Given the description of an element on the screen output the (x, y) to click on. 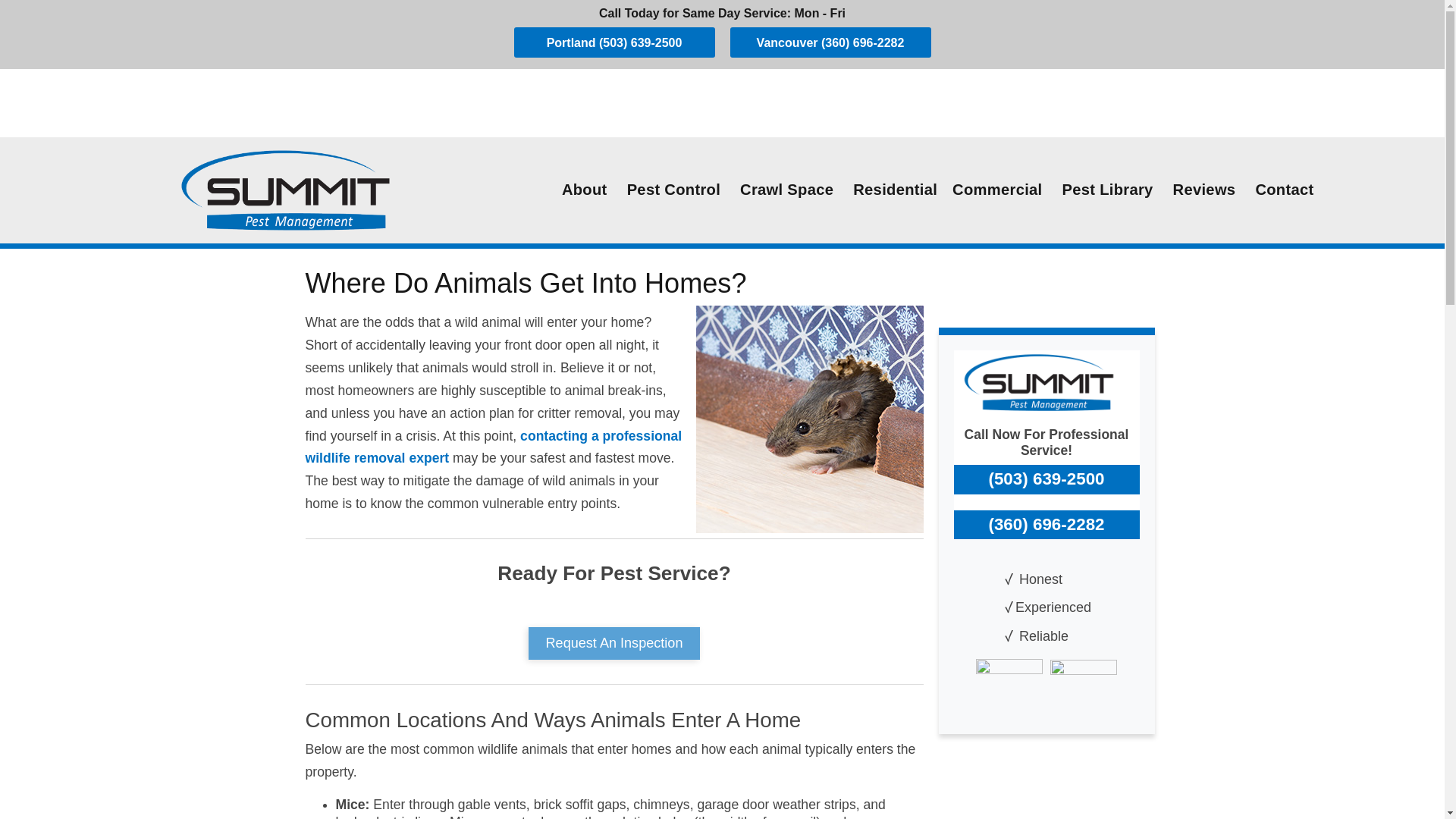
Pest Control (674, 189)
Commercial (996, 189)
Crawl Space (786, 189)
Reviews (1204, 189)
Contact (1283, 189)
Residential (894, 189)
Pest Library (1107, 189)
About (584, 189)
